Given the description of an element on the screen output the (x, y) to click on. 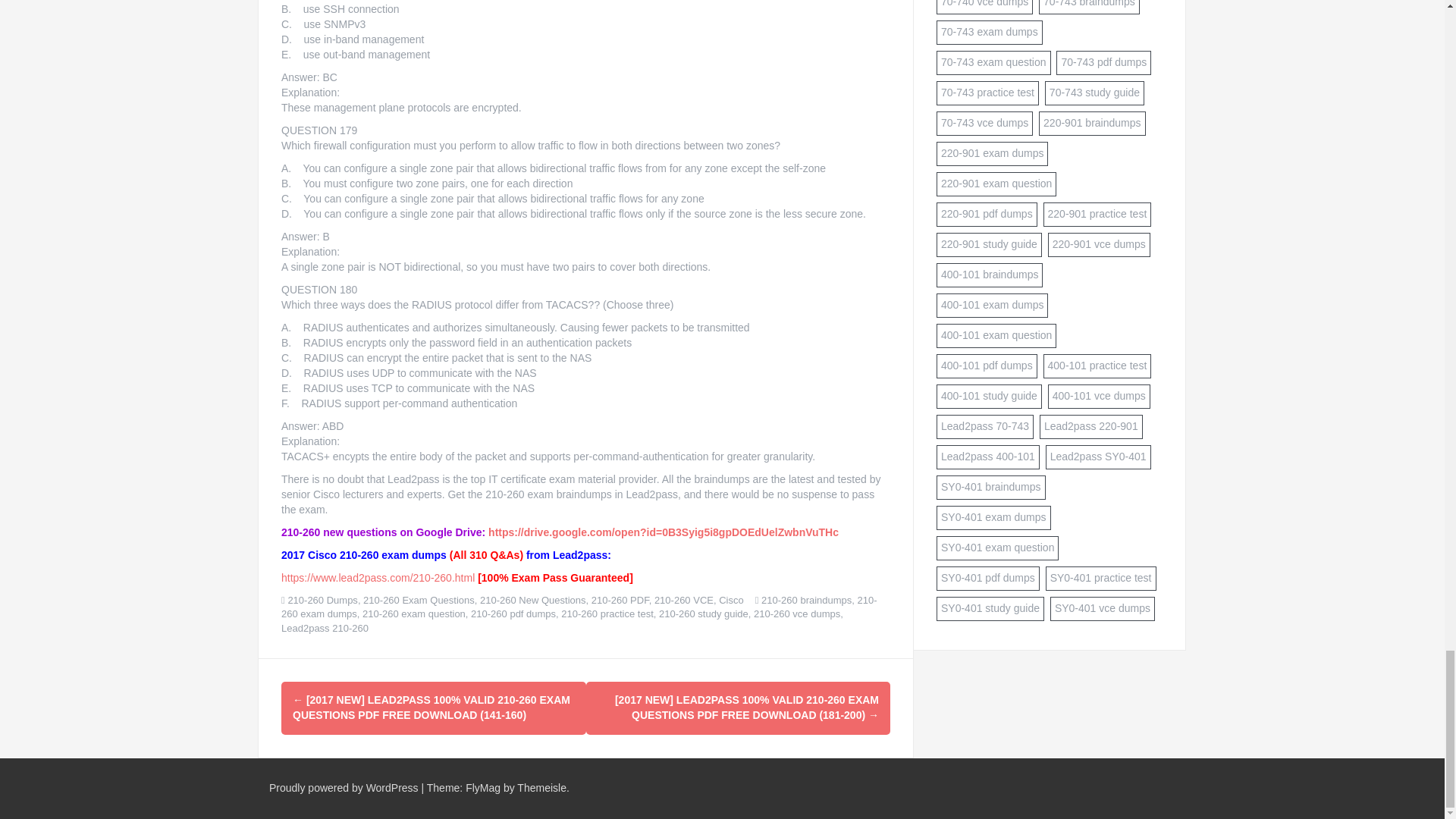
210-260 pdf dumps (513, 613)
210-260 exam question (413, 613)
Cisco (731, 600)
210-260 Dumps (322, 600)
210-260 study guide (703, 613)
Lead2pass 210-260 (324, 627)
210-260 Exam Questions (418, 600)
210-260 VCE (683, 600)
210-260 vce dumps (797, 613)
210-260 exam dumps (579, 606)
